Given the description of an element on the screen output the (x, y) to click on. 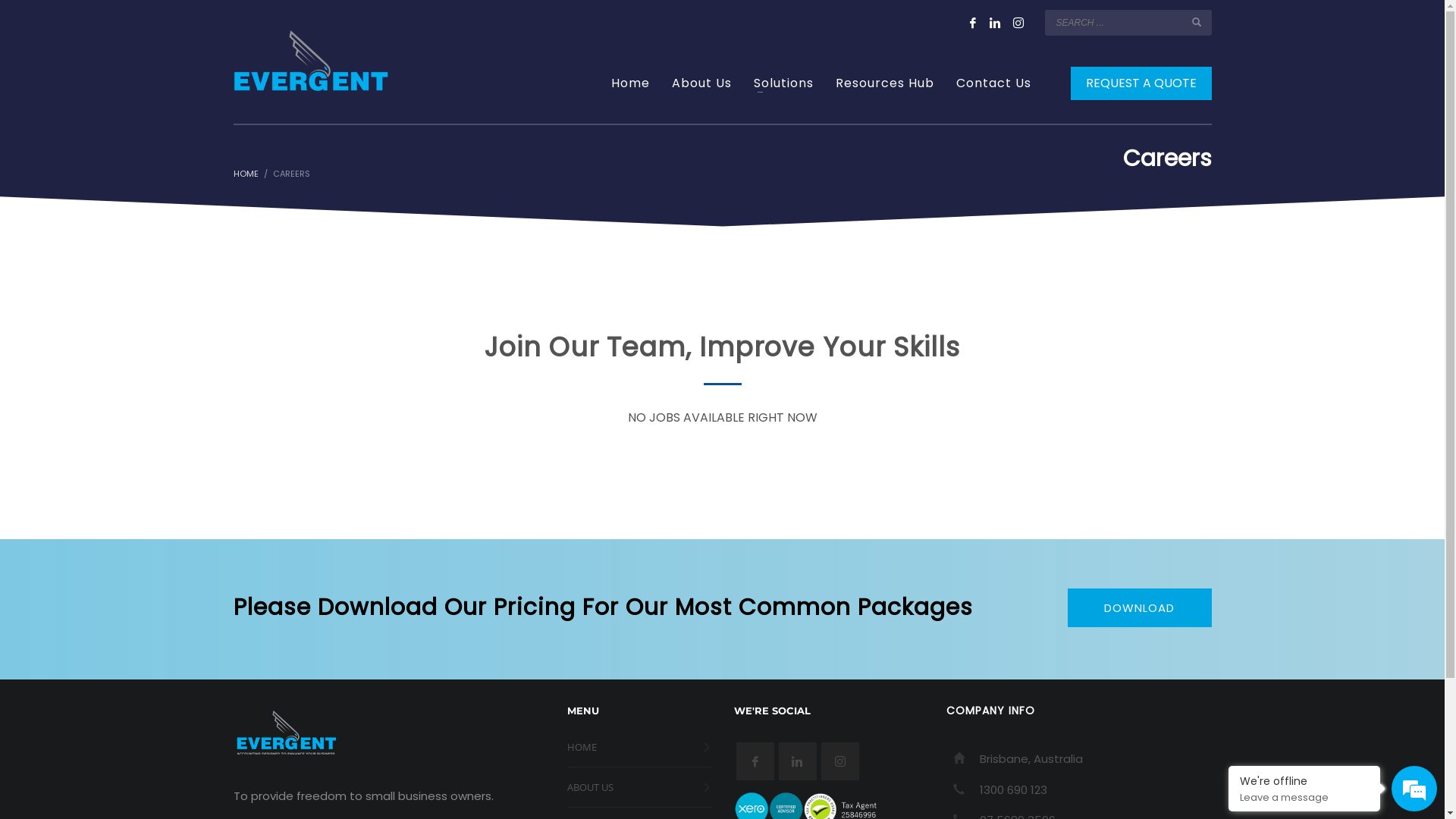
Resources Hub Element type: text (884, 83)
REQUEST A QUOTE Element type: text (1140, 83)
Solutions Element type: text (783, 83)
DOWNLOAD Element type: text (1139, 607)
go Element type: text (1196, 21)
Home Element type: text (630, 83)
HOME Element type: text (639, 747)
1300 690 123 Element type: text (1013, 789)
Evergent Element type: hover (310, 60)
About Us Element type: text (701, 83)
ABOUT US Element type: text (639, 787)
HOME Element type: text (245, 173)
Linkedin Element type: hover (995, 22)
Evergent Logo Element type: hover (286, 732)
Contact Us Element type: text (992, 83)
Instagram Element type: hover (1018, 22)
Facebook Element type: hover (972, 22)
